Given the description of an element on the screen output the (x, y) to click on. 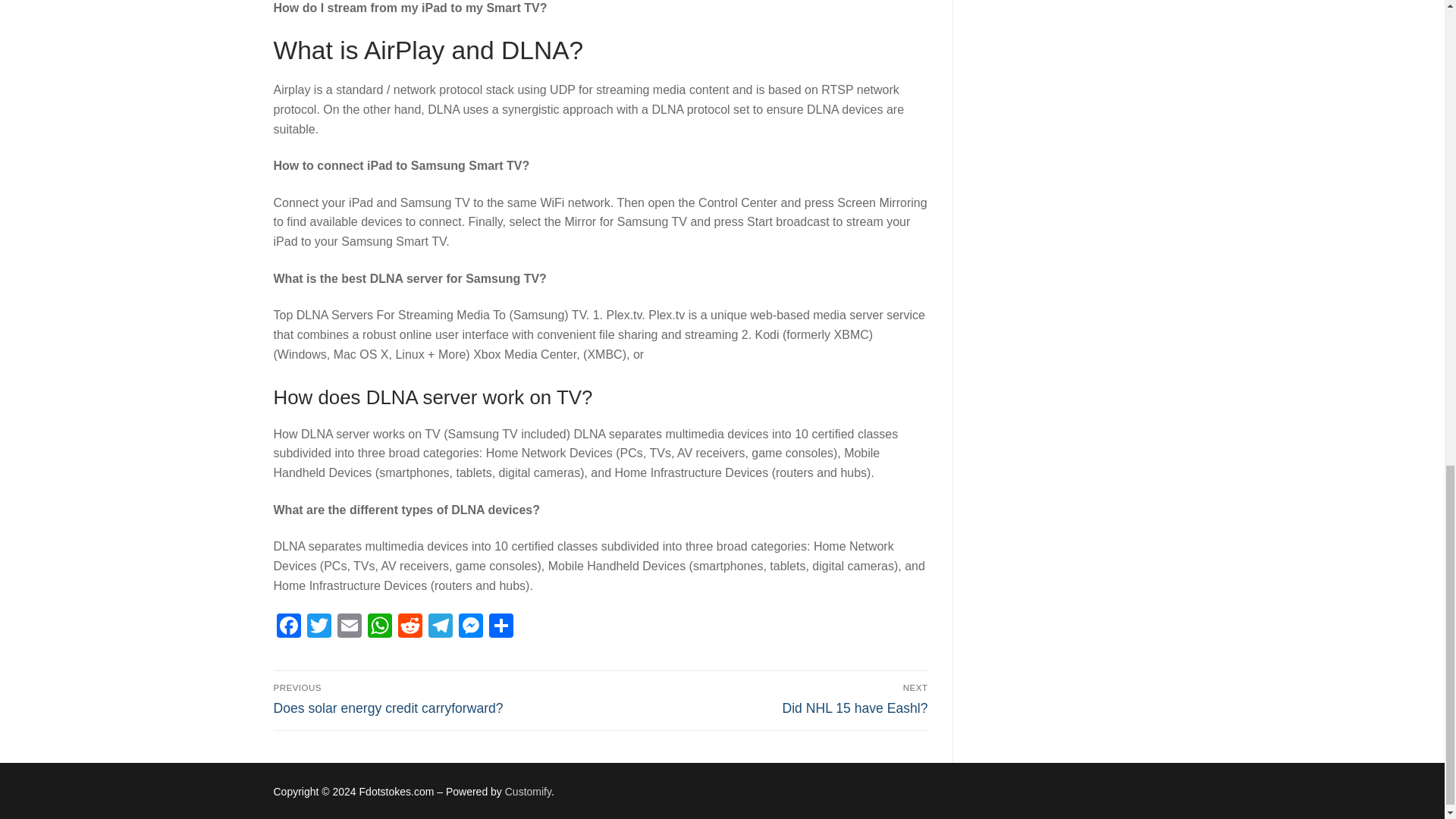
Twitter (317, 627)
Email (348, 627)
Messenger (469, 627)
Facebook (287, 627)
Reddit (767, 698)
Telegram (409, 627)
WhatsApp (439, 627)
Email (379, 627)
